Given the description of an element on the screen output the (x, y) to click on. 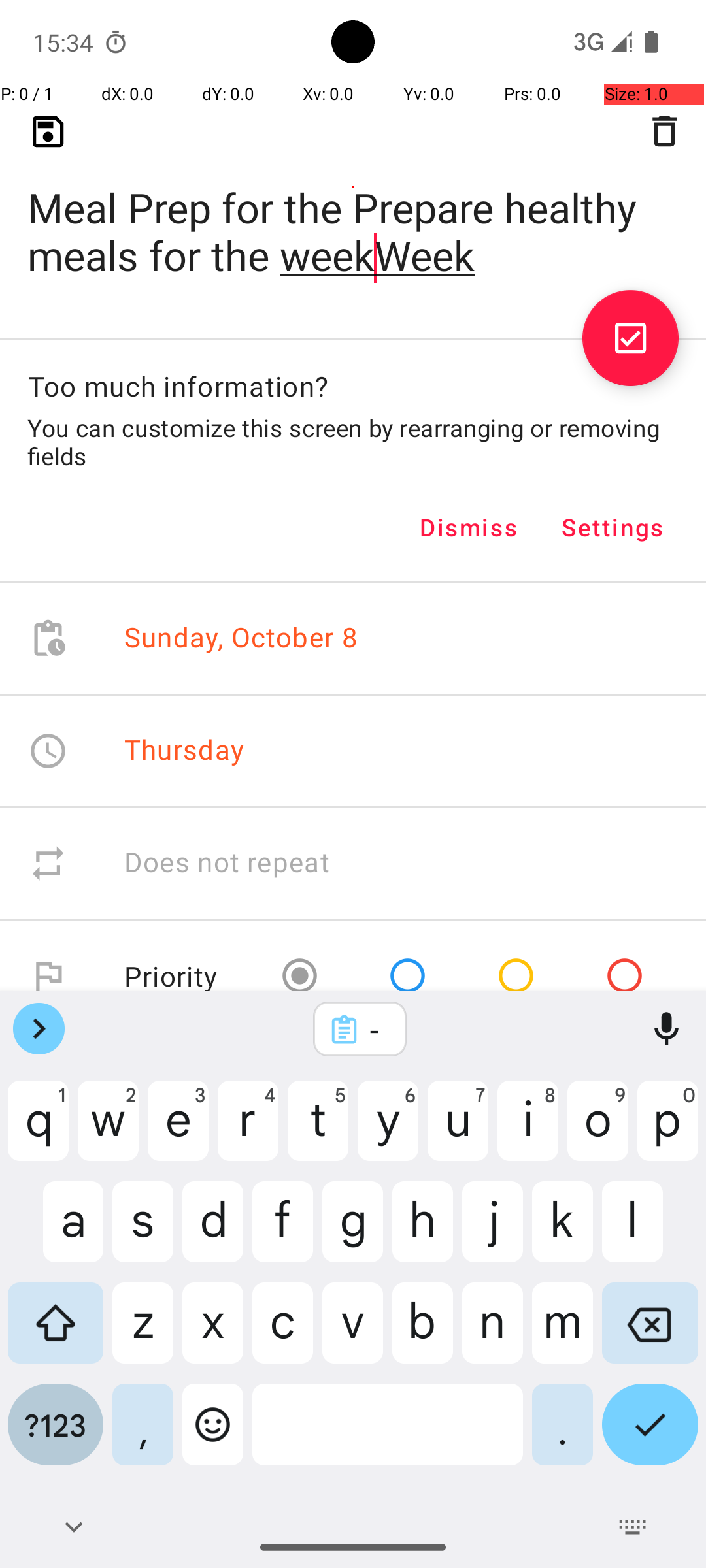
Meal Prep for the Prepare healthy meals for the weekWeek Element type: android.widget.EditText (353, 210)
